Given the description of an element on the screen output the (x, y) to click on. 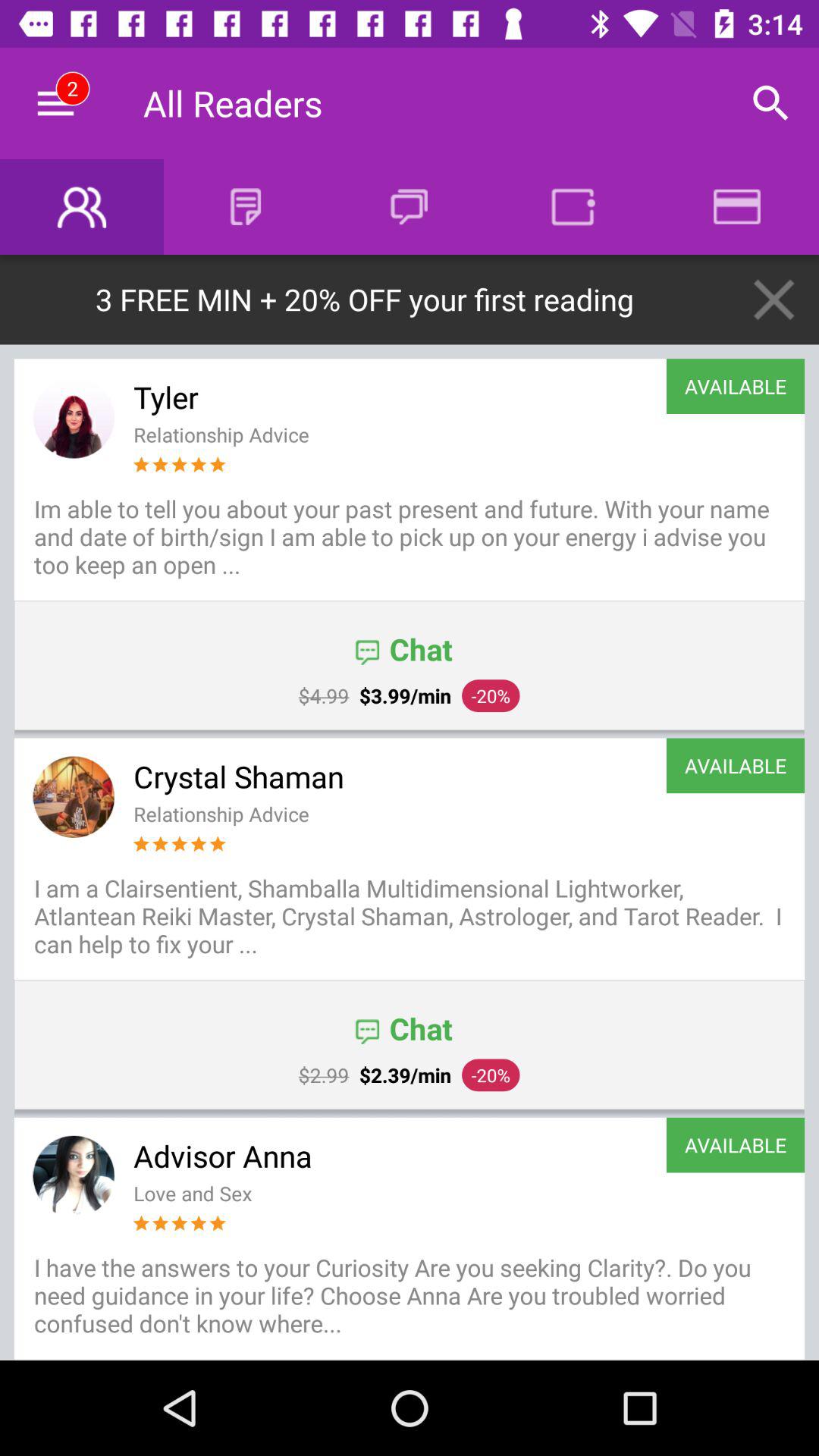
open icon to the right of the all readers icon (771, 103)
